Given the description of an element on the screen output the (x, y) to click on. 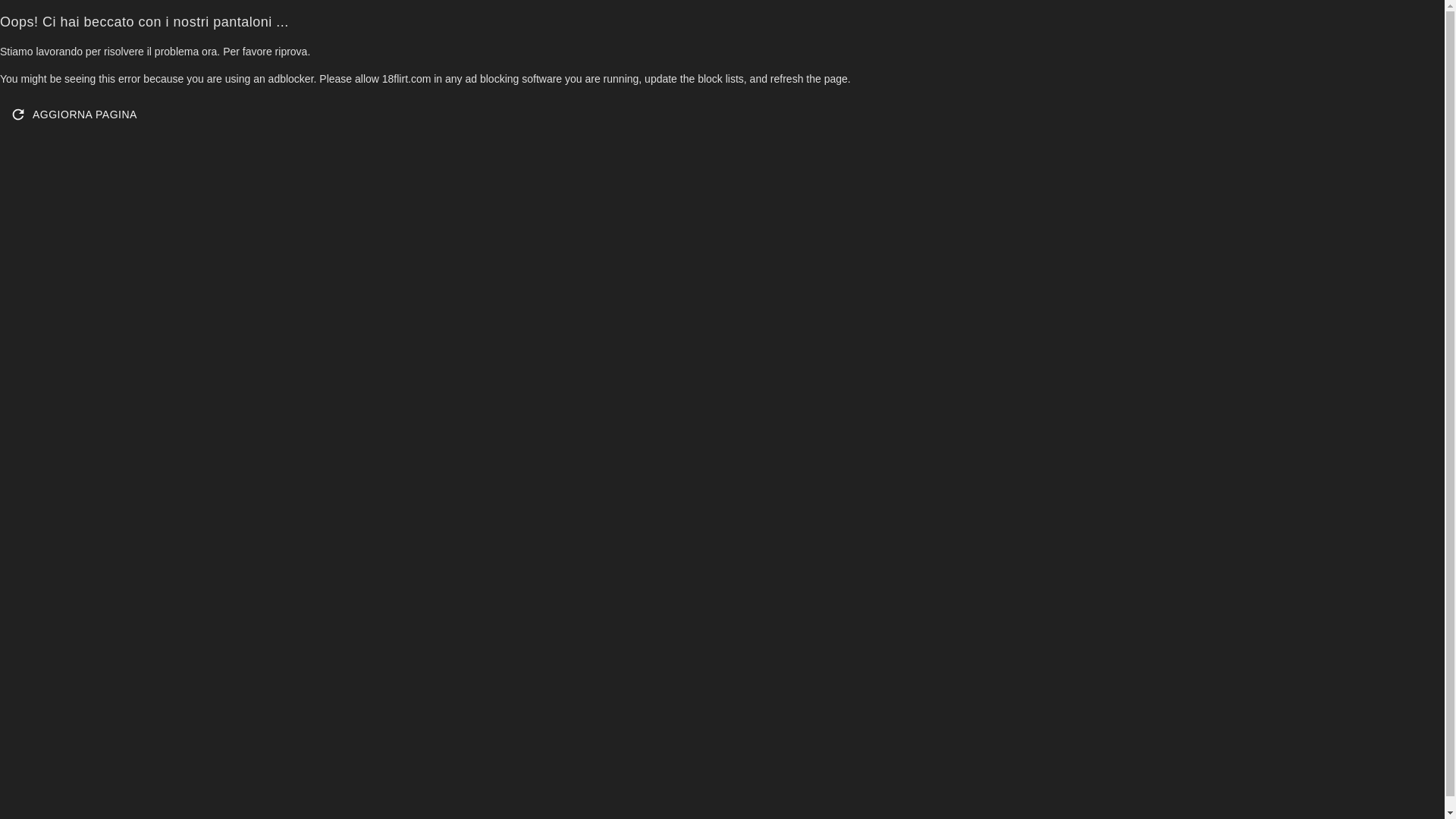
AGGIORNA PAGINA Element type: text (75, 114)
